Given the description of an element on the screen output the (x, y) to click on. 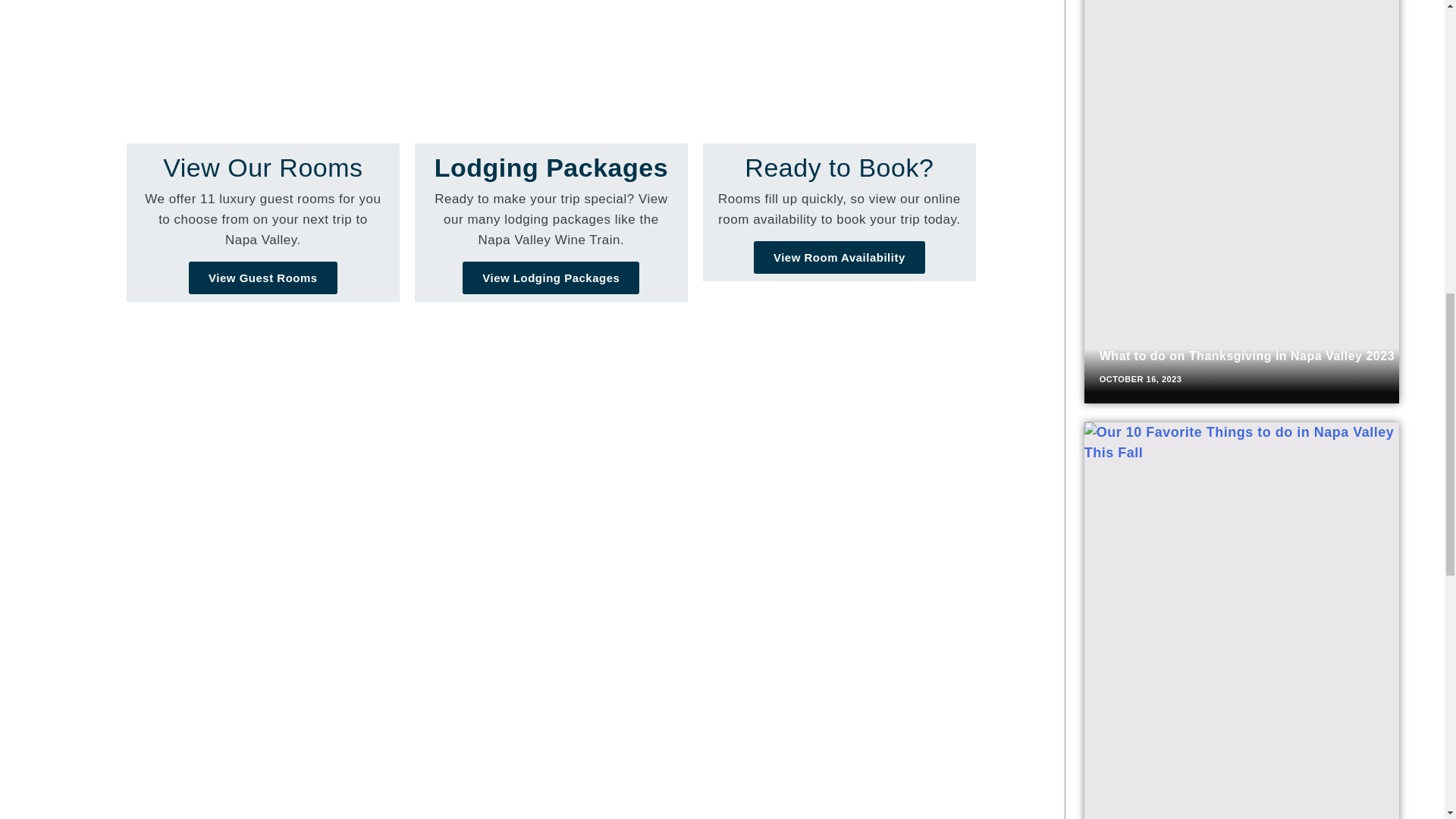
What to do on Thanksgiving in Napa Valley 2023 (1246, 355)
